Given the description of an element on the screen output the (x, y) to click on. 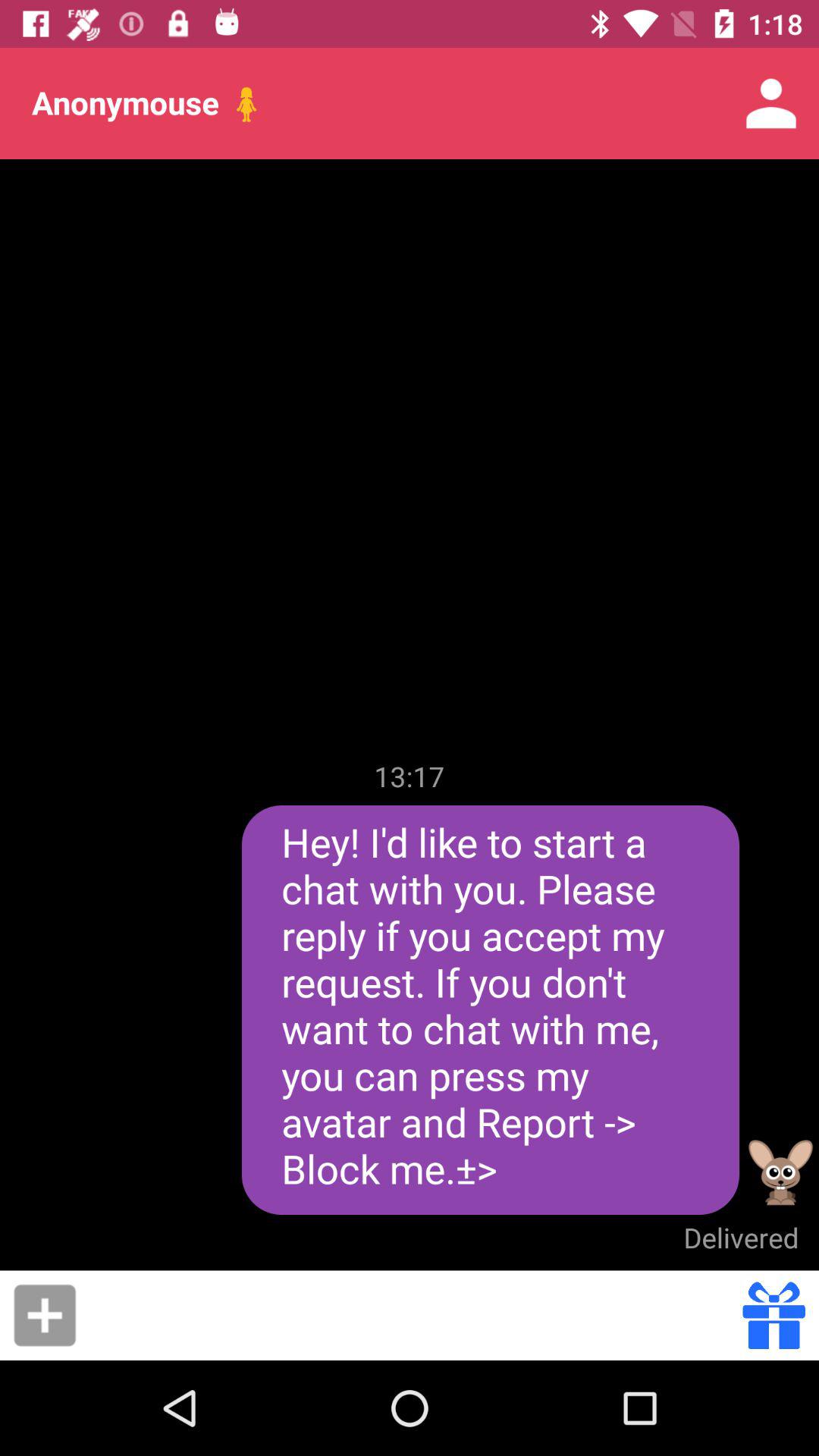
click the hey i d (490, 1009)
